Given the description of an element on the screen output the (x, y) to click on. 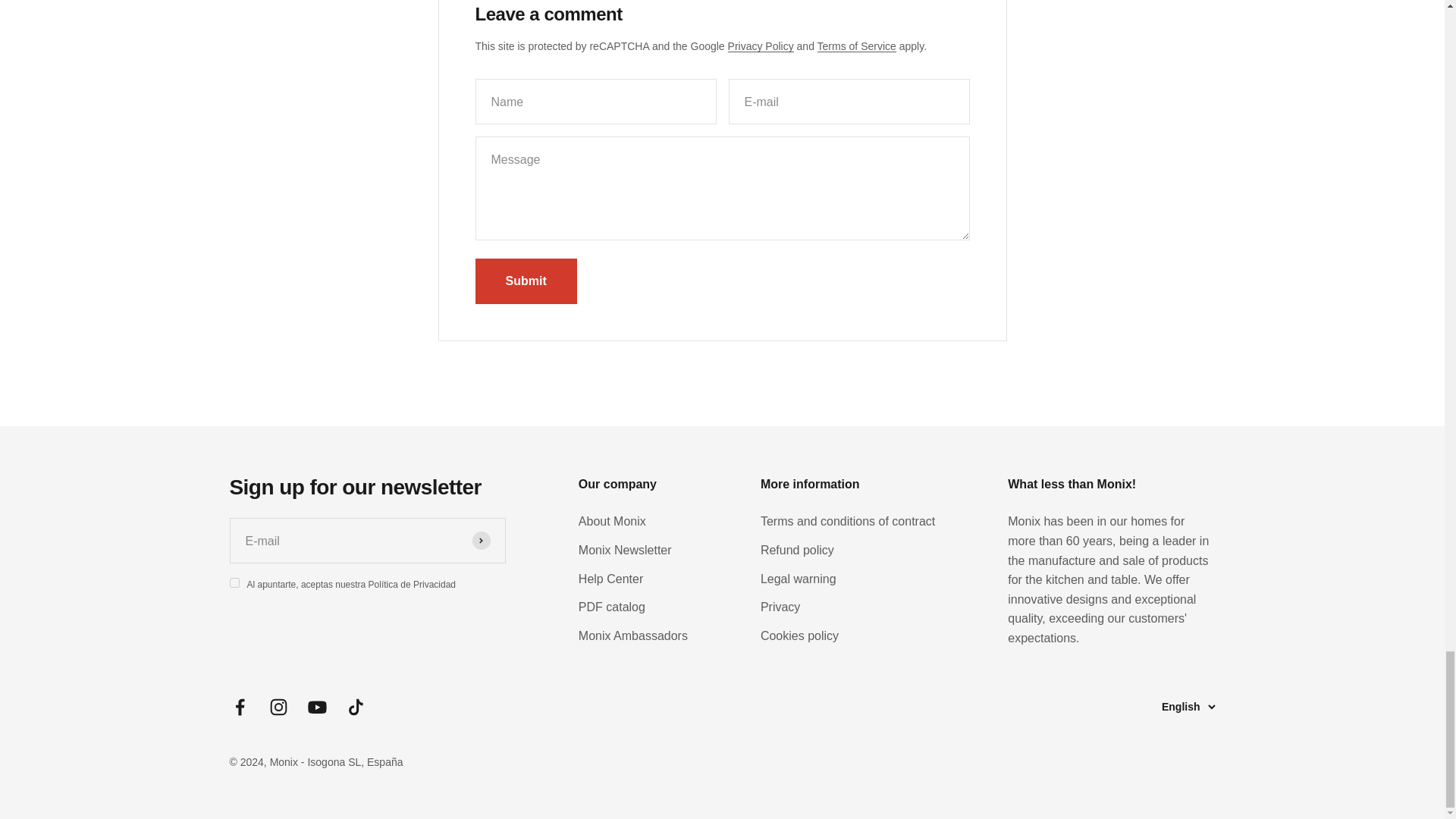
on (233, 583)
